Given the description of an element on the screen output the (x, y) to click on. 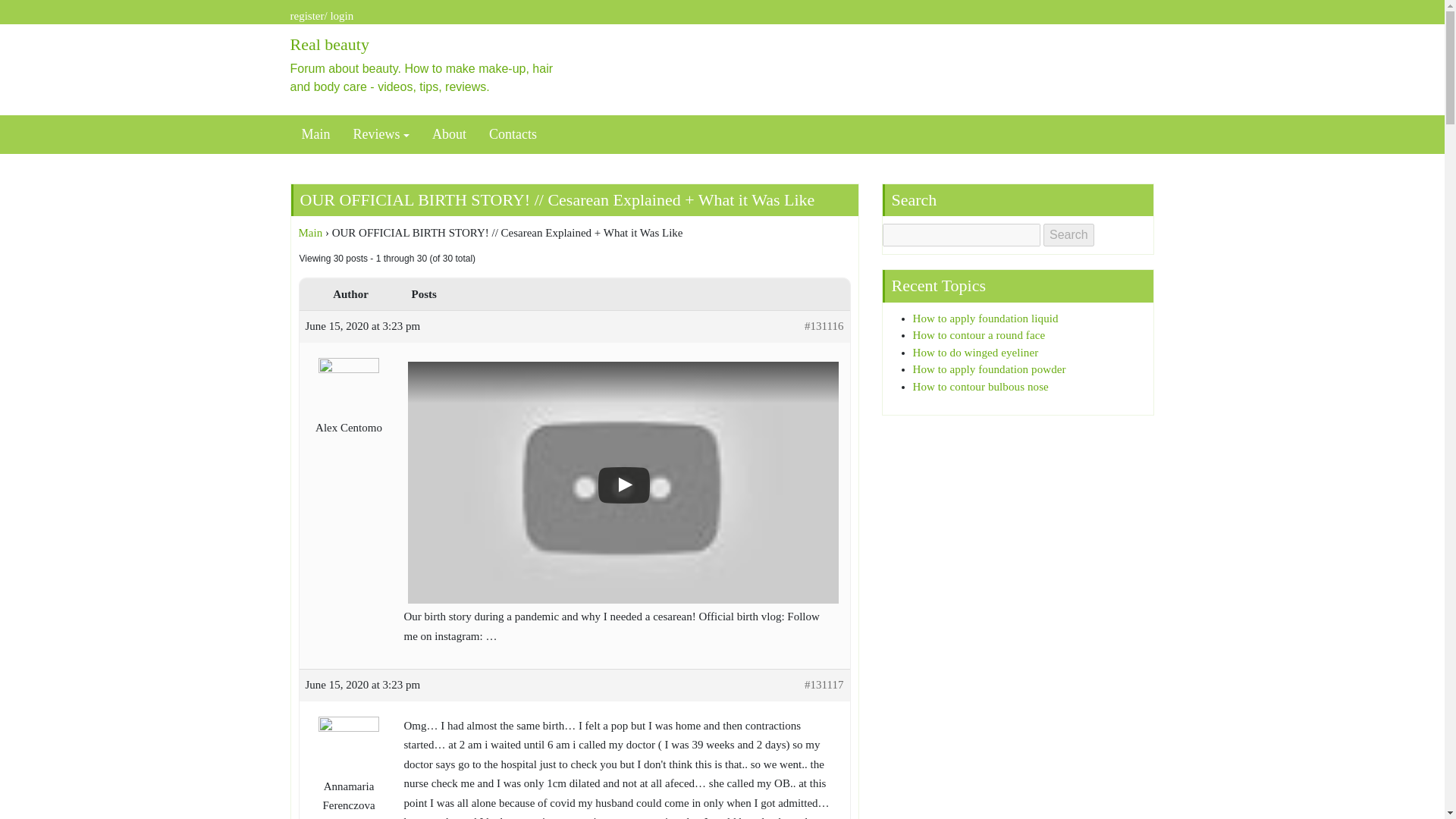
Main (314, 134)
Reviews (380, 134)
Contacts (512, 134)
Main (310, 232)
About (448, 134)
register (306, 15)
login (341, 15)
Search (1068, 234)
